Given the description of an element on the screen output the (x, y) to click on. 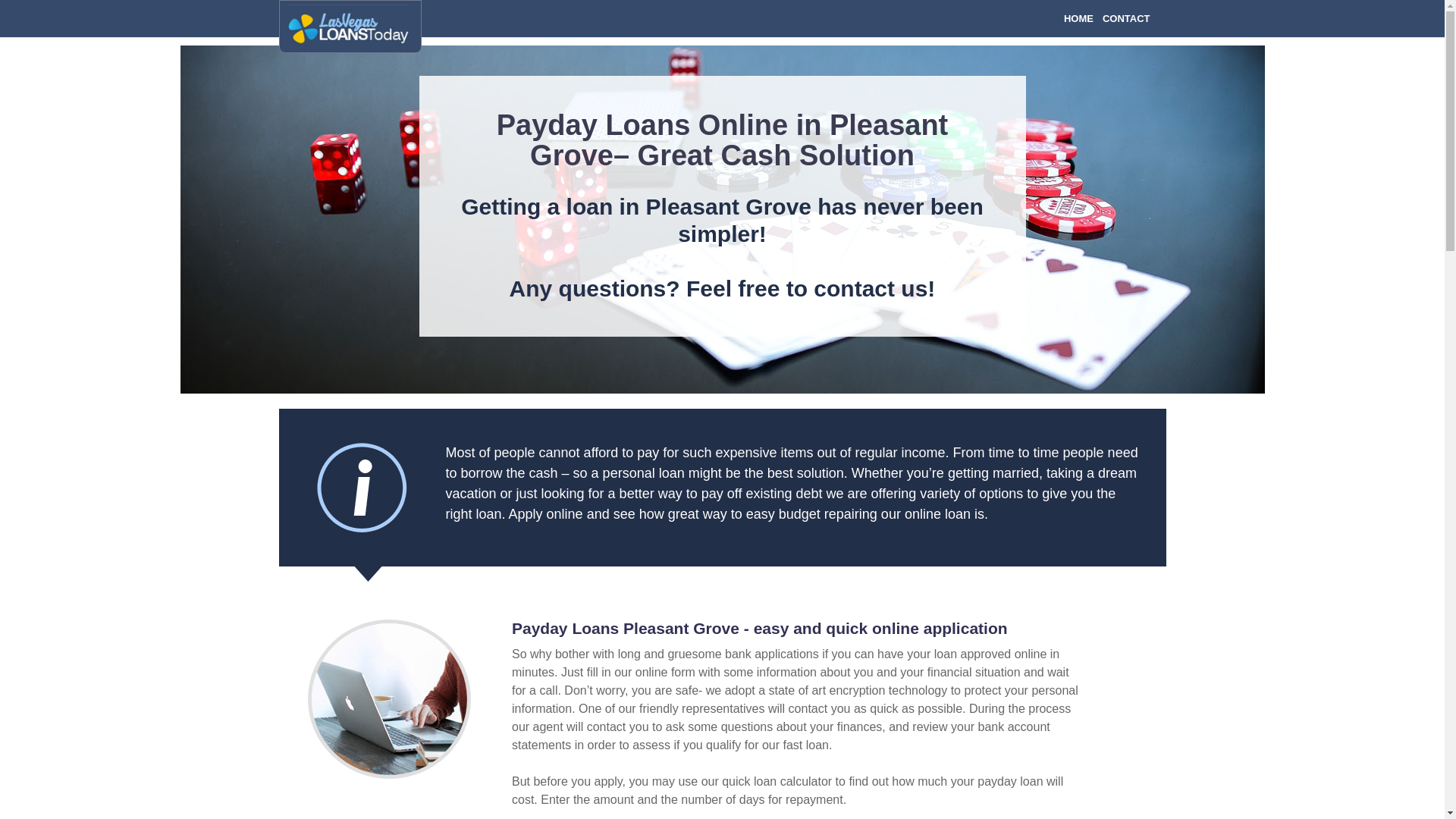
HOME (1078, 18)
CONTACT (1125, 18)
